Given the description of an element on the screen output the (x, y) to click on. 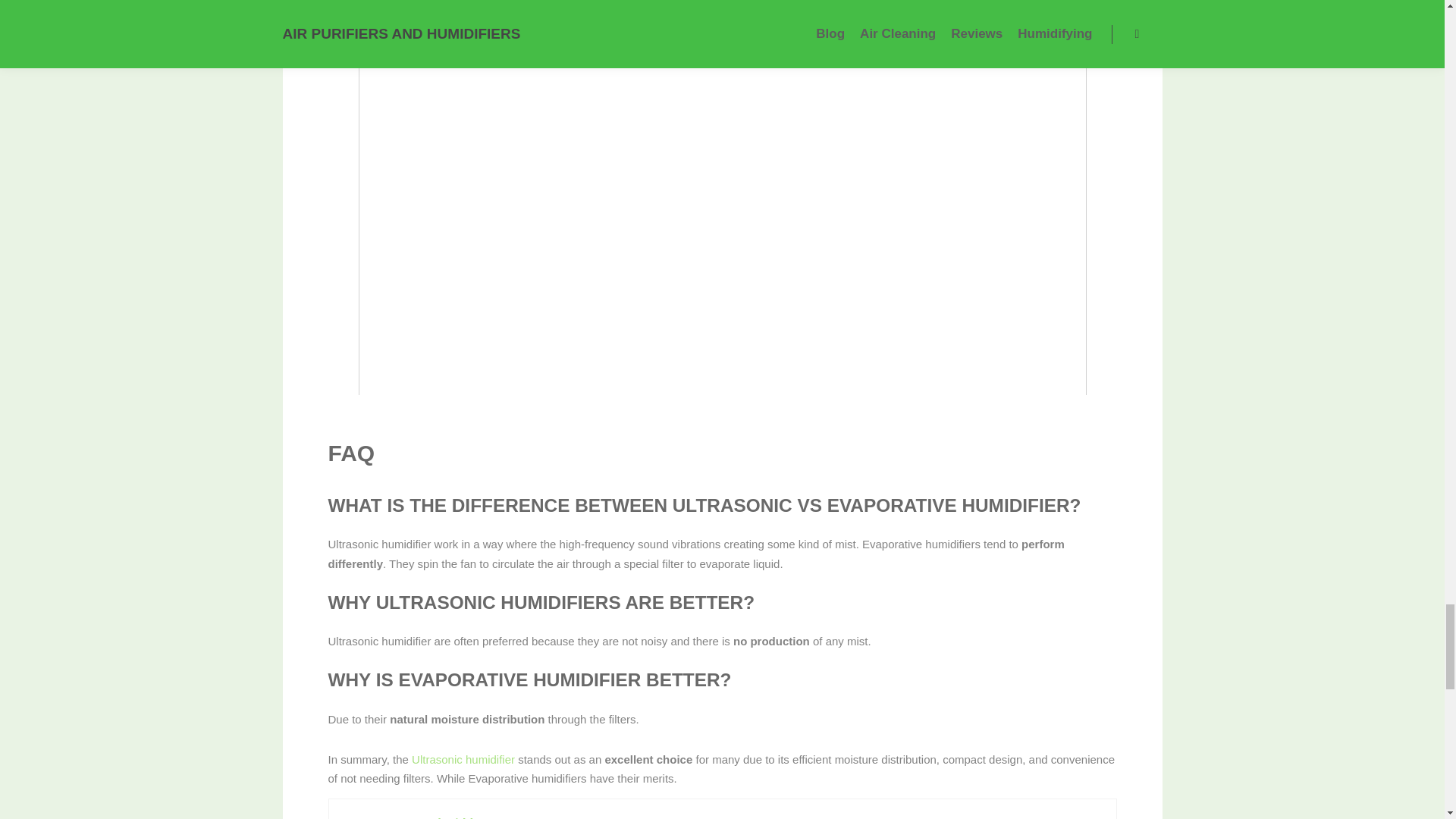
Ami Moore (467, 817)
Ultrasonic humidifier (463, 758)
